Given the description of an element on the screen output the (x, y) to click on. 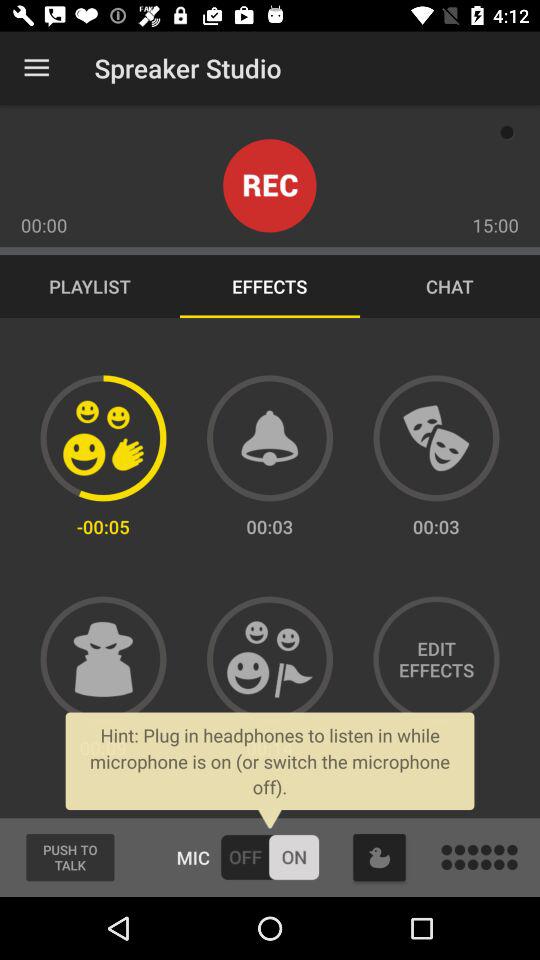
toggle microphone option (269, 857)
